Given the description of an element on the screen output the (x, y) to click on. 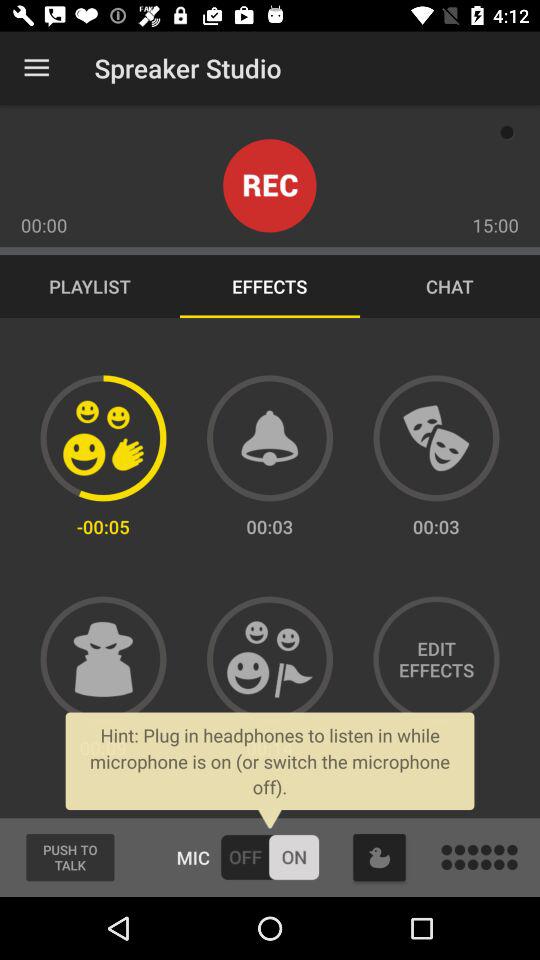
toggle microphone option (269, 857)
